Given the description of an element on the screen output the (x, y) to click on. 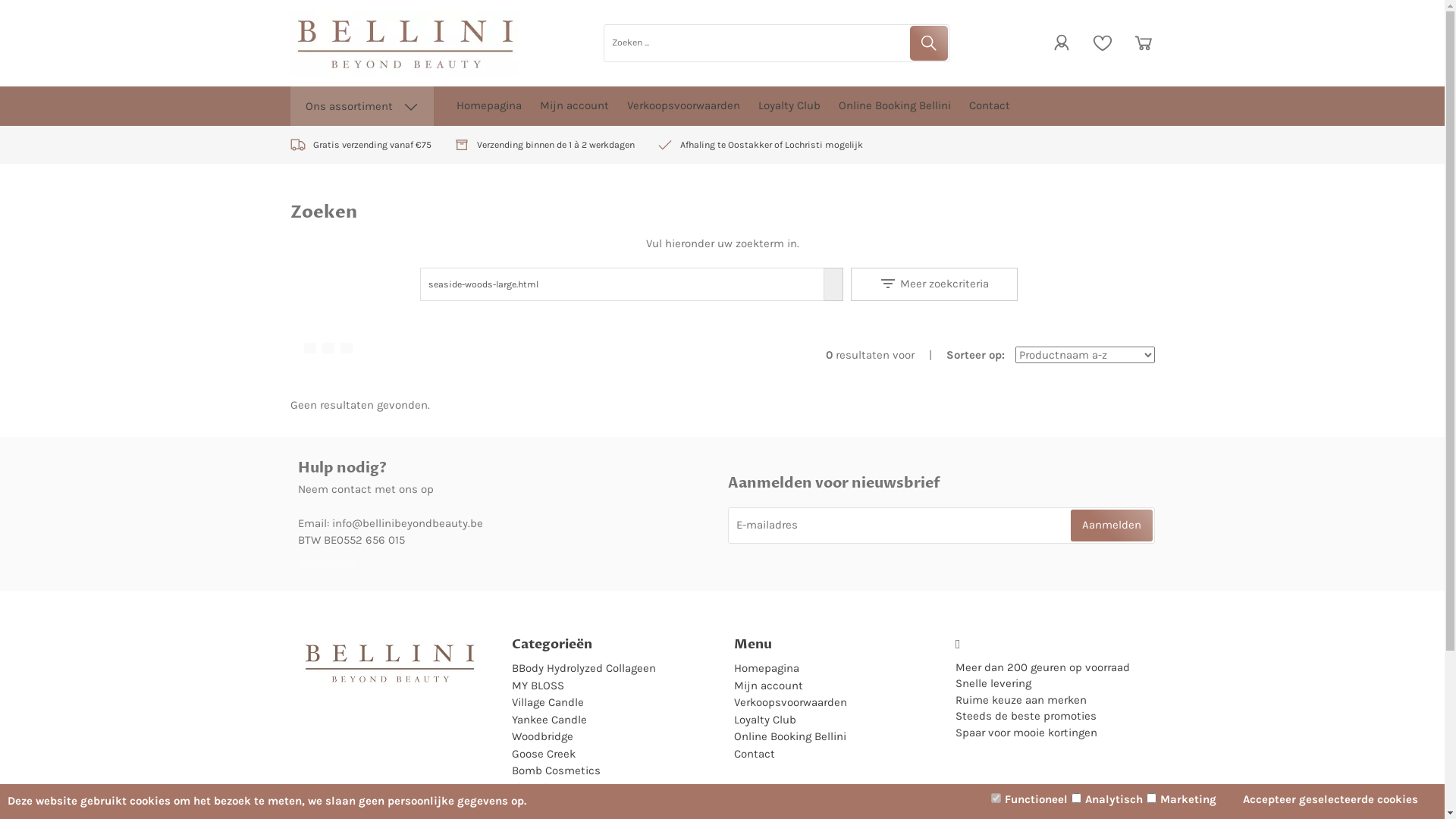
Contact Element type: text (754, 753)
Homepagina Element type: text (488, 105)
Woodbridge Element type: text (542, 736)
Winkelwagen Element type: hover (1142, 42)
Loyalty Club Element type: text (789, 105)
BBody Hydrolyzed Collageen Element type: text (583, 667)
Zoeken Element type: hover (927, 42)
Village Candle Element type: text (547, 702)
Marc Inbane Element type: text (543, 804)
Phytodess Element type: text (538, 787)
Loyalty Club Element type: text (765, 719)
Verkoopsvoorwaarden Element type: text (682, 105)
Accepteer geselecteerde cookies Element type: text (1336, 799)
Bomb Cosmetics Element type: text (555, 770)
Verlanglijstje Element type: hover (1101, 42)
Verkoopsvoorwaarden Element type: text (790, 702)
Contact Element type: text (989, 105)
Mijn account Element type: text (574, 105)
Mijn account Element type: text (768, 685)
Goose Creek Element type: text (543, 753)
Online Booking Bellini Element type: text (790, 736)
Online Booking Bellini Element type: text (894, 105)
MY BLOSS Element type: text (537, 685)
Yankee Candle Element type: text (548, 719)
Homepagina Element type: text (766, 667)
